Given the description of an element on the screen output the (x, y) to click on. 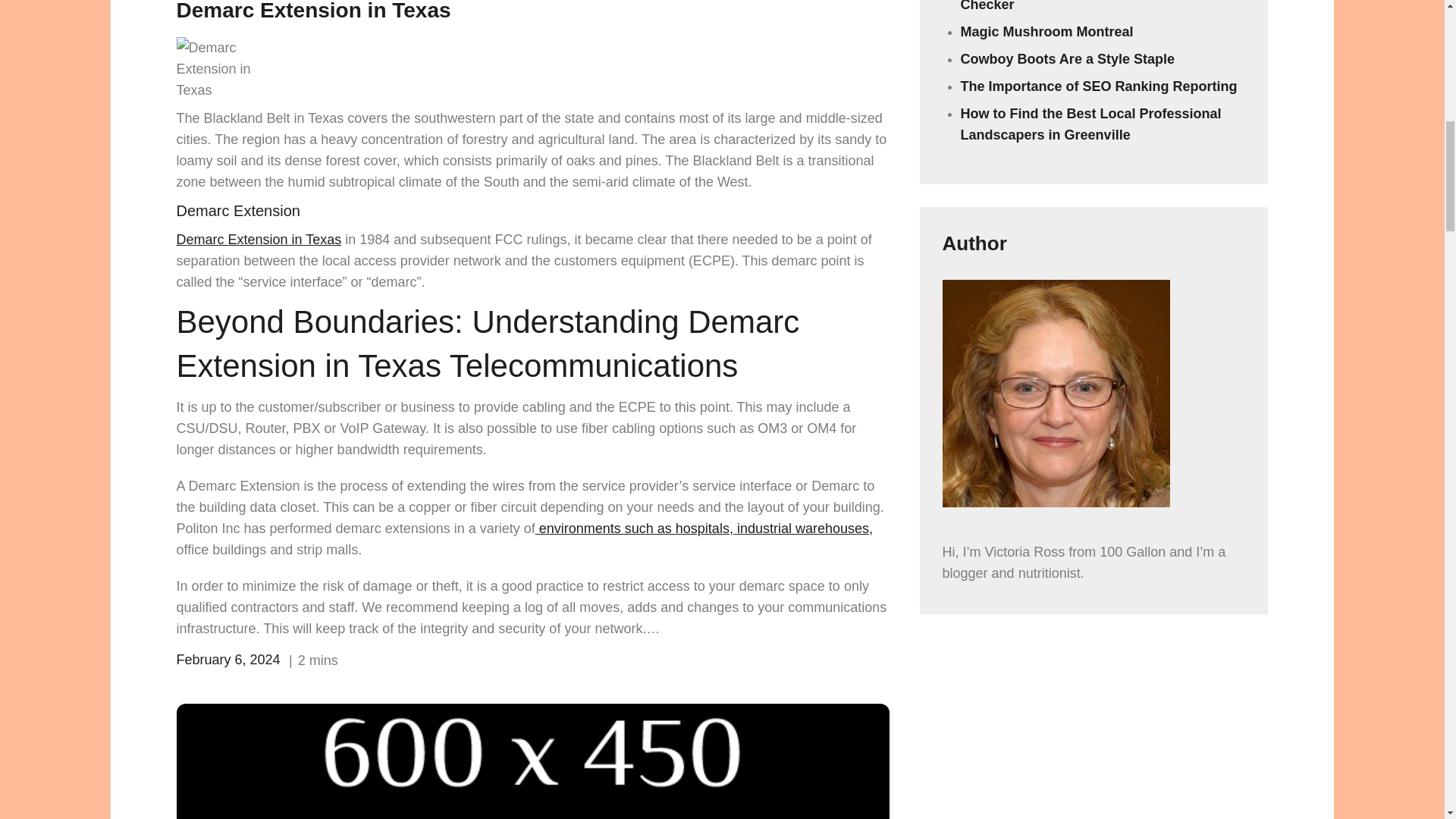
Demarc Extension in Texas (312, 11)
environments such as hospitals, industrial warehouses, (703, 528)
Demarc Extension in Texas (258, 239)
YouTube to MP3 Online Converter (532, 761)
February 6, 2024 (227, 659)
